Given the description of an element on the screen output the (x, y) to click on. 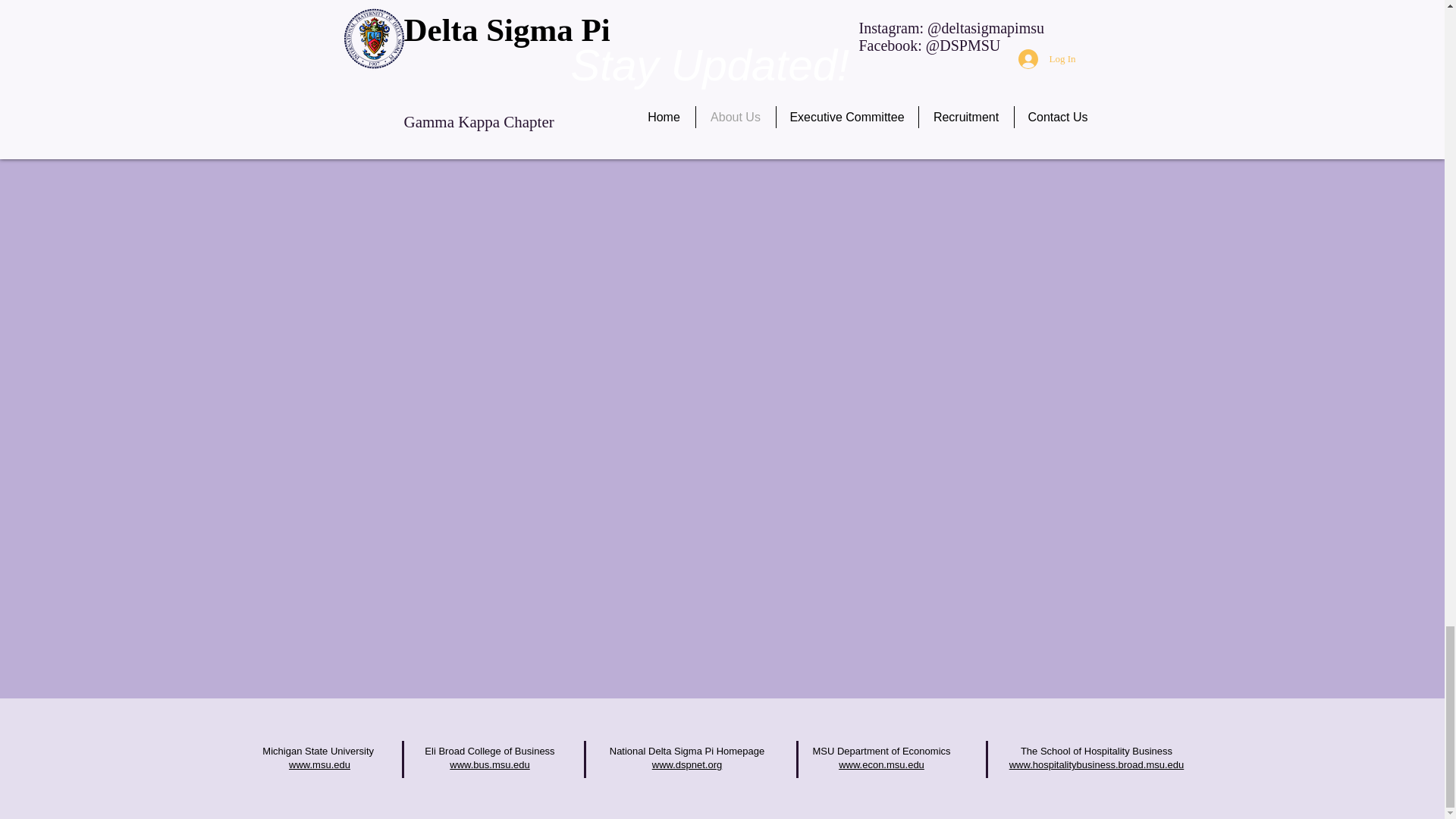
www.dspnet.org (687, 764)
www.econ.msu.edu (881, 764)
www.hospitalitybusiness.broad.msu.edu (1097, 764)
www.bus.msu.edu (489, 764)
www.msu.edu (319, 764)
